Given the description of an element on the screen output the (x, y) to click on. 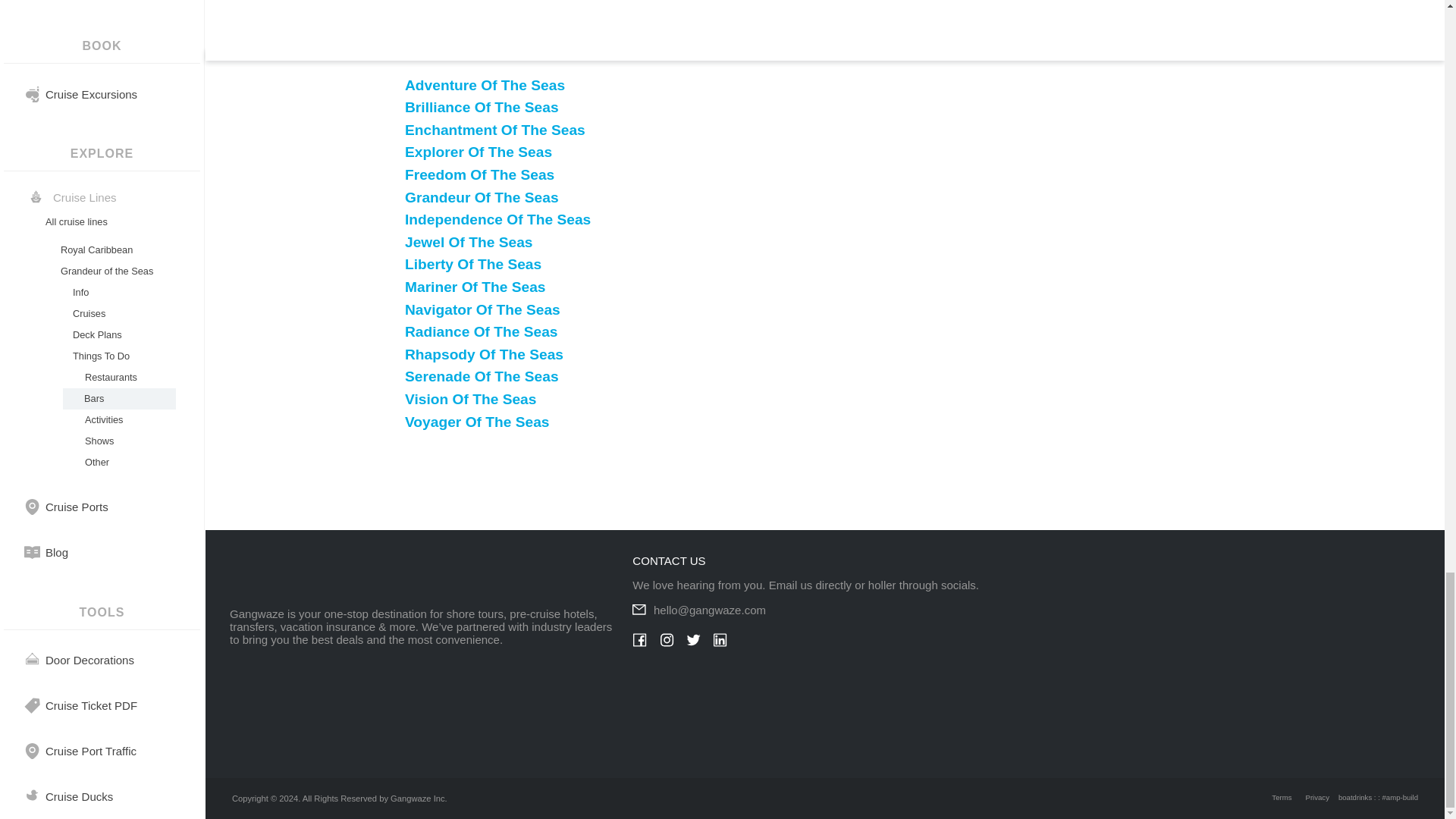
Navigator Of The Seas (482, 309)
Adventure Of The Seas (484, 84)
Radiance Of The Seas (480, 331)
Brilliance Of The Seas (481, 107)
Freedom Of The Seas (479, 174)
Enchantment Of The Seas (494, 130)
Mariner Of The Seas (475, 286)
Grandeur Of The Seas (481, 197)
Explorer Of The Seas (477, 151)
Jewel Of The Seas (468, 242)
Independence Of The Seas (497, 219)
Liberty Of The Seas (472, 263)
